Given the description of an element on the screen output the (x, y) to click on. 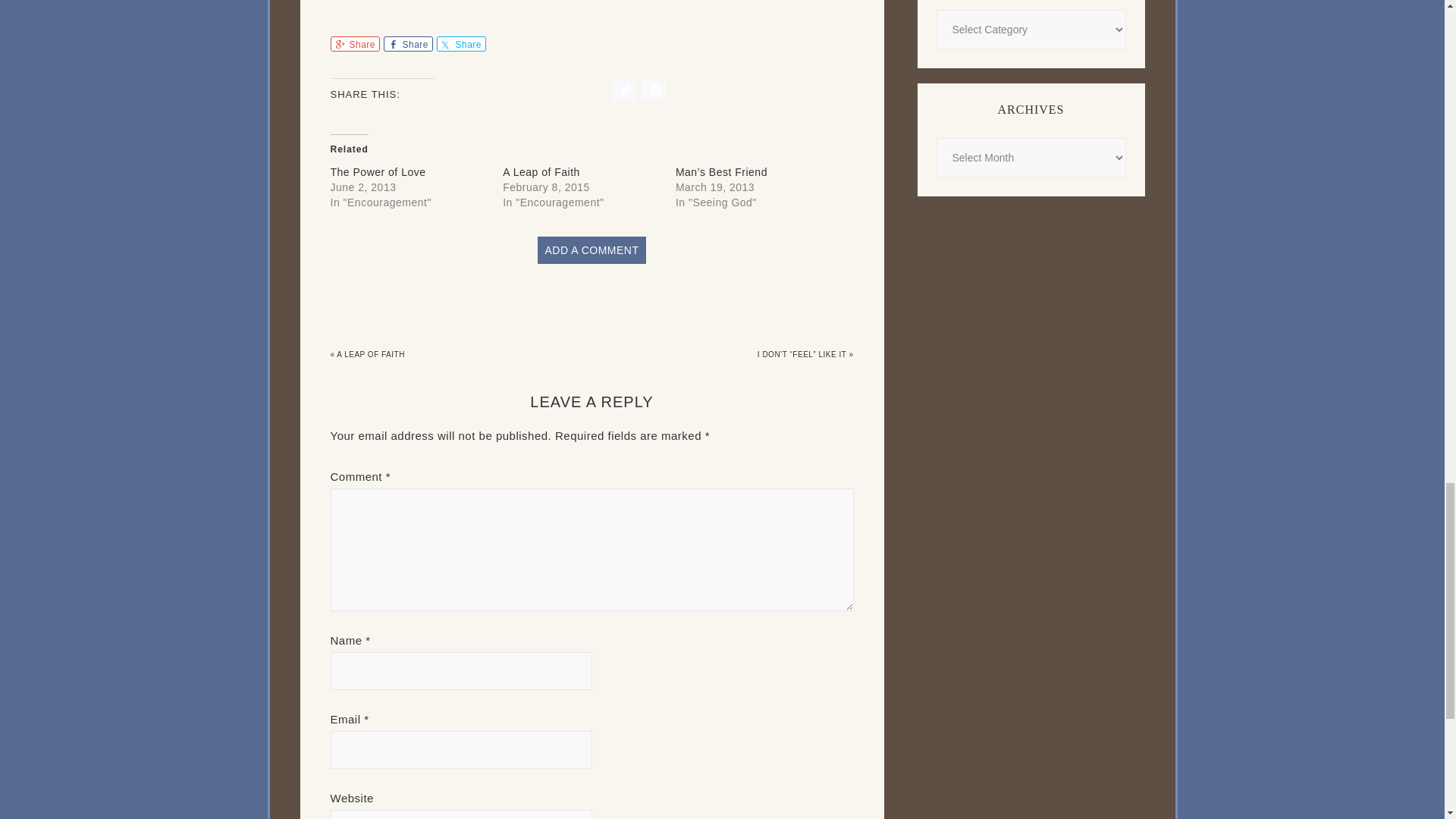
Click to share on Twitter (622, 89)
Click to share on Facebook (653, 89)
Share (408, 43)
Share (461, 43)
ADD A COMMENT (591, 250)
A Leap of Faith (540, 172)
A Leap of Faith (540, 172)
The Power of Love (378, 172)
Share (355, 43)
The Power of Love (378, 172)
